Given the description of an element on the screen output the (x, y) to click on. 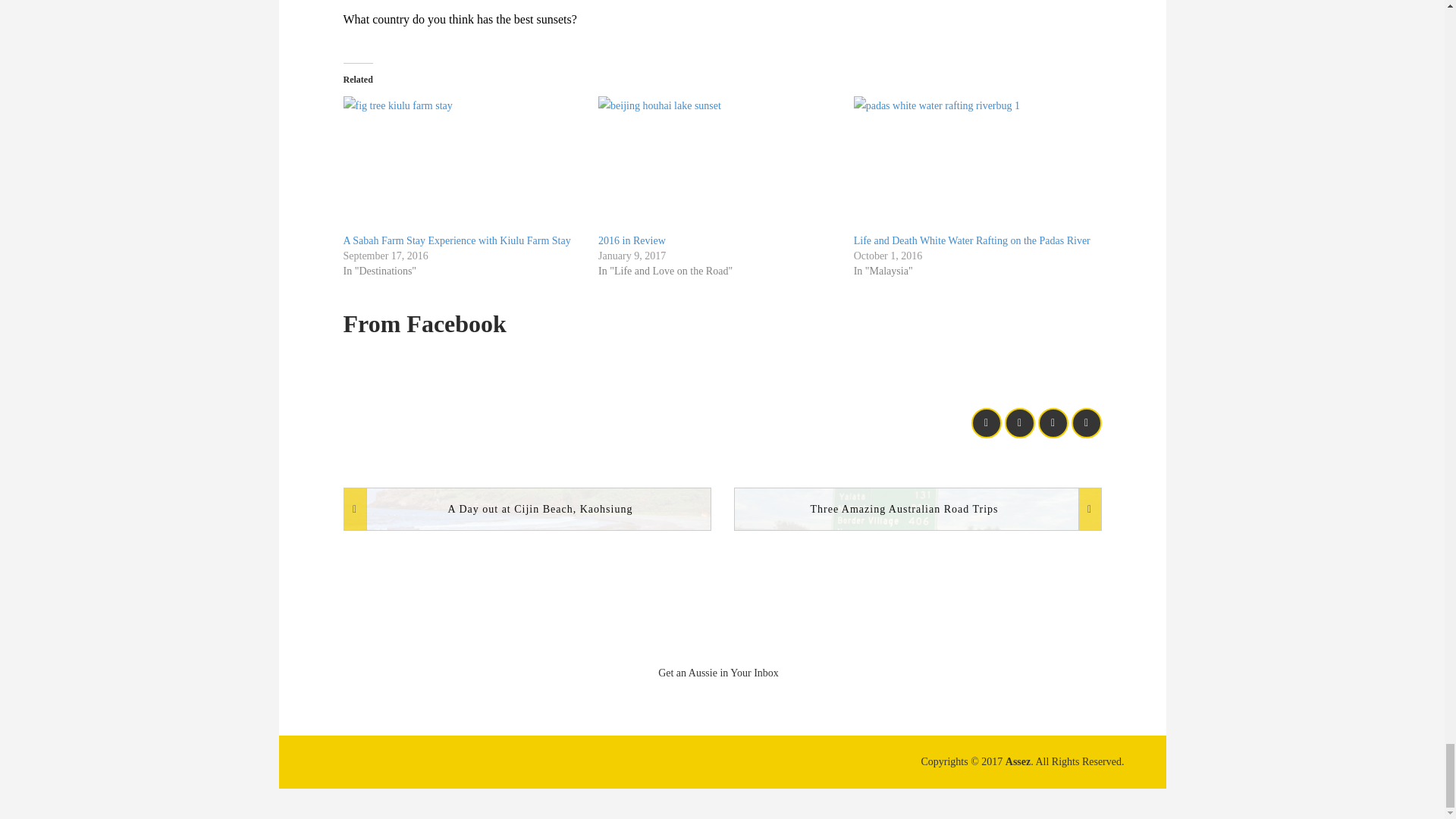
A Sabah Farm Stay Experience with Kiulu Farm Stay (456, 240)
2016 in Review (718, 164)
Life and Death White Water Rafting on the Padas River (973, 164)
Life and Death White Water Rafting on the Padas River (971, 240)
2016 in Review (631, 240)
A Sabah Farm Stay Experience with Kiulu Farm Stay (462, 164)
